Given the description of an element on the screen output the (x, y) to click on. 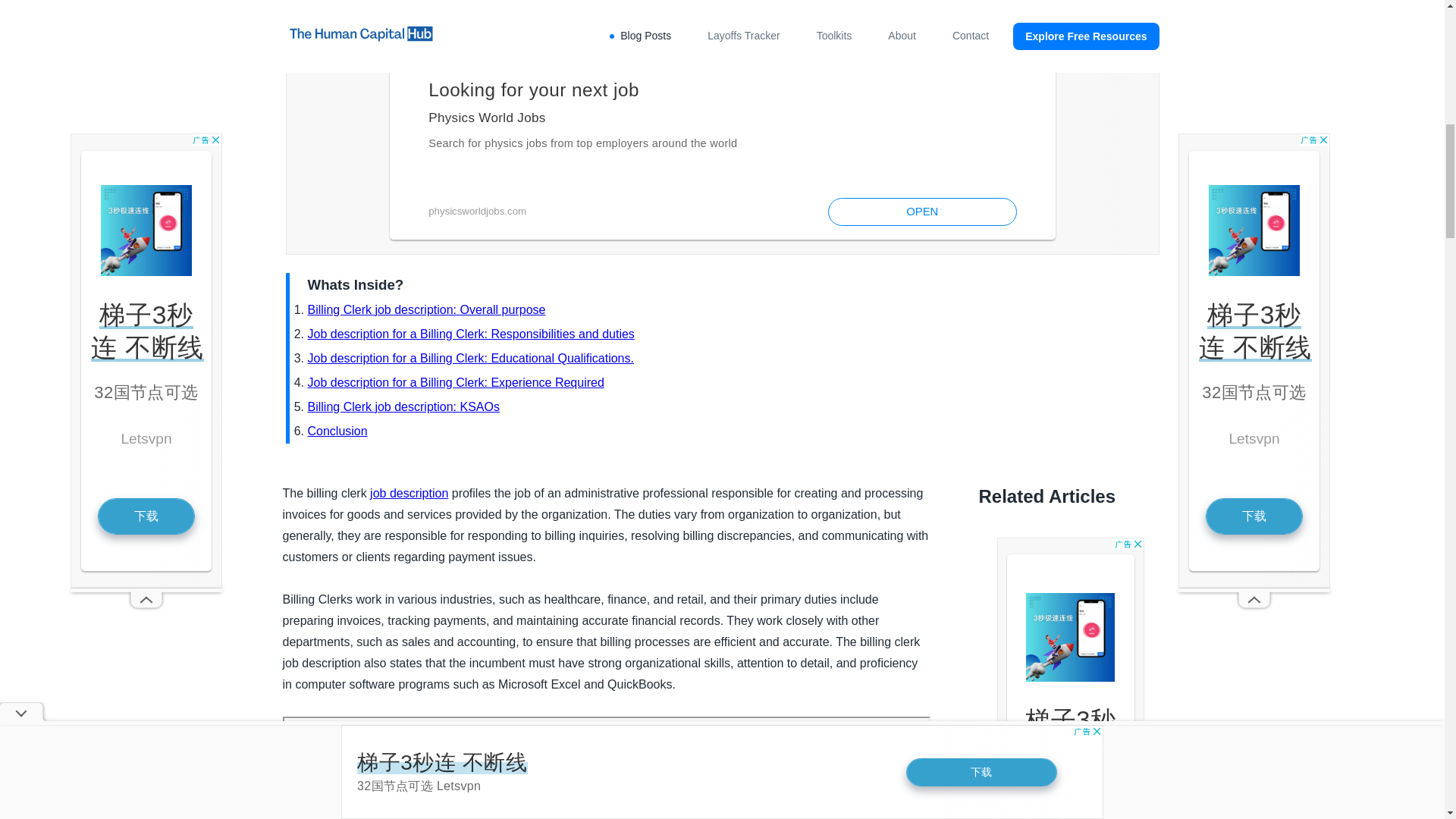
job description (408, 492)
Billing Clerk job description: Overall purpose (426, 309)
Billing Clerk job description: KSAOs (403, 406)
Job description for a Billing Clerk: Experience Required (455, 382)
Conclusion (337, 431)
